Given the description of an element on the screen output the (x, y) to click on. 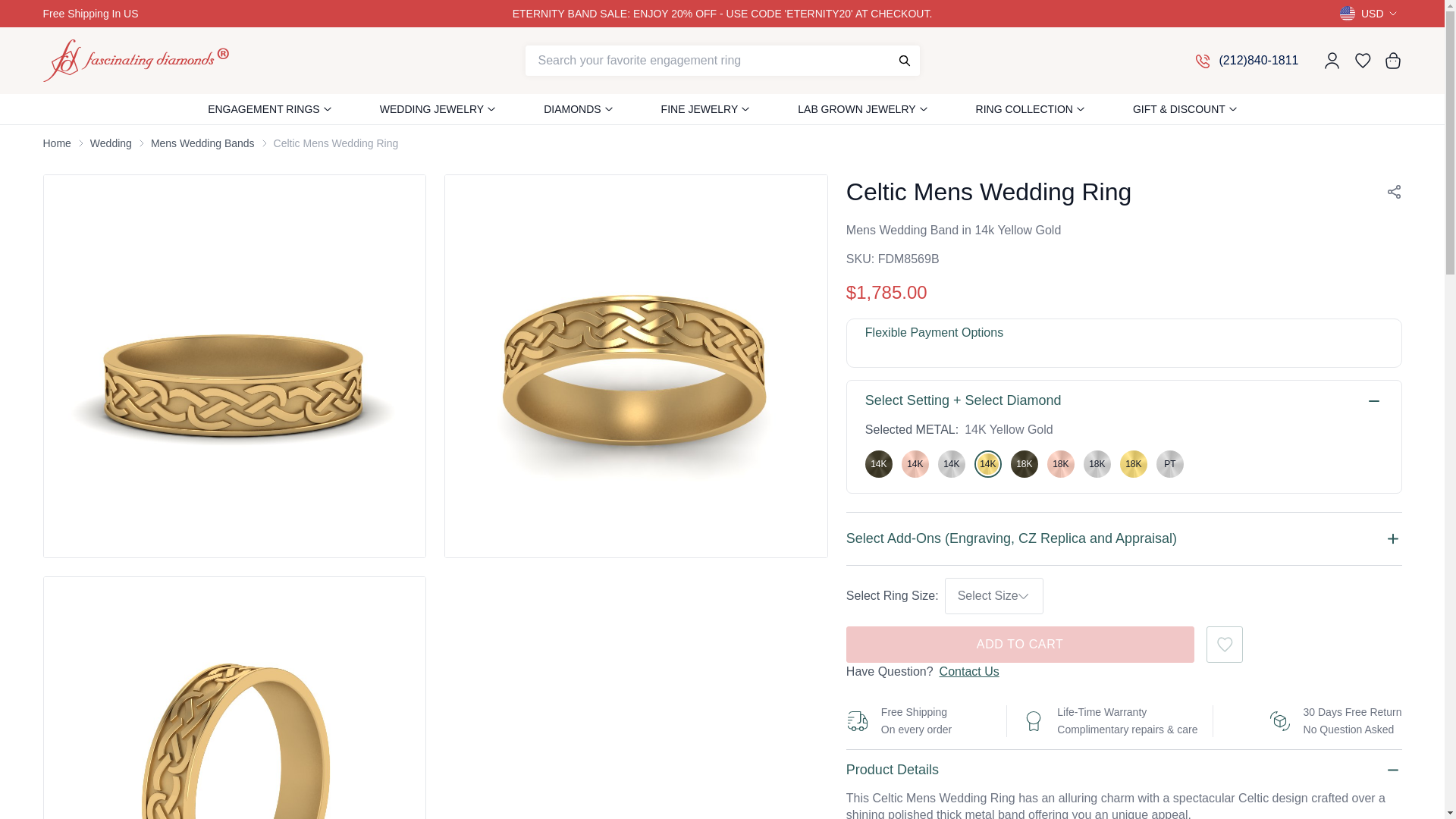
Header Logo (135, 60)
Free Shipping In US (145, 13)
WEDDING JEWELRY (431, 109)
celtic mens wedding ring in FDM8569BANGLE2 NL YG (234, 698)
ENGAGEMENT RINGS (264, 109)
